Given the description of an element on the screen output the (x, y) to click on. 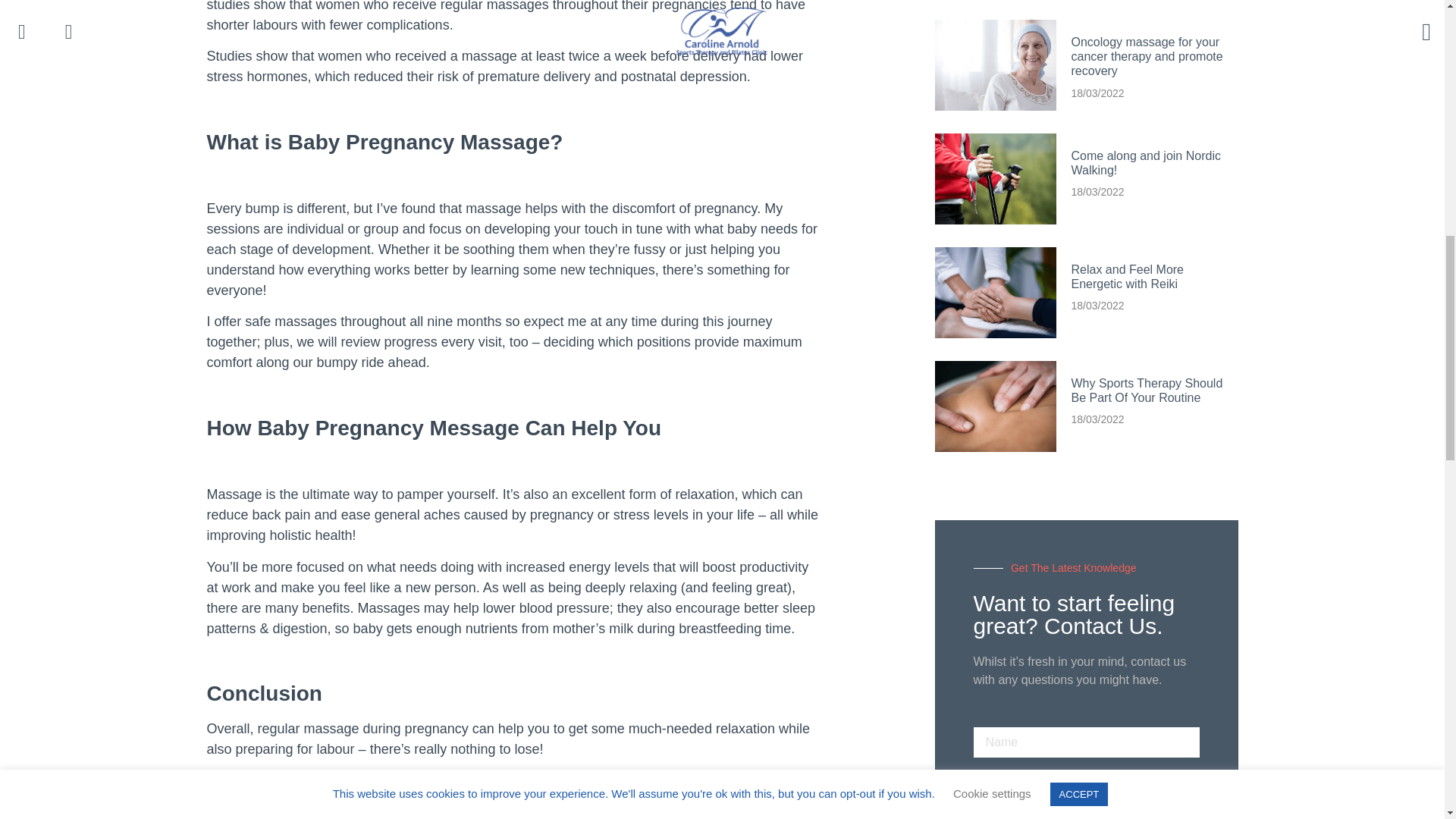
Come along and join Nordic Walking! (1145, 162)
Relax and Feel More Energetic with Reiki (1126, 276)
Why Sports Therapy Should Be Part Of Your Routine (1146, 390)
